Given the description of an element on the screen output the (x, y) to click on. 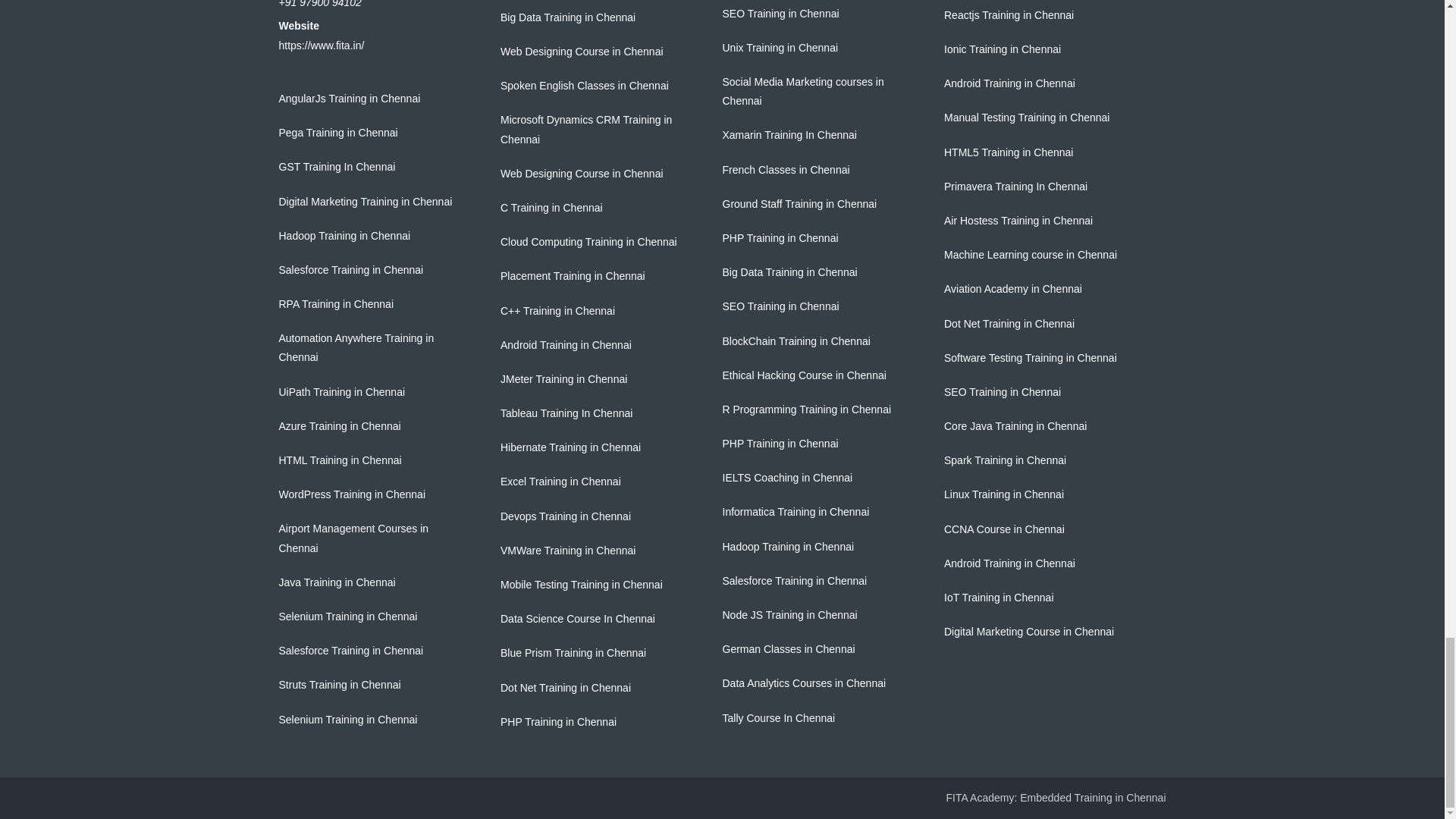
GST Training In Chennai (337, 166)
Struts Training in Chennai (340, 684)
AccessPress Lite (1093, 797)
WordPress Training in Chennai (352, 494)
Azure Training in Chennai (340, 426)
Airport Management Courses in Chennai (354, 537)
AngularJs Training in Chennai (349, 98)
HTML Training in Chennai (340, 460)
Selenium Training in Chennai (348, 616)
UiPath Training in Chennai (342, 391)
